Given the description of an element on the screen output the (x, y) to click on. 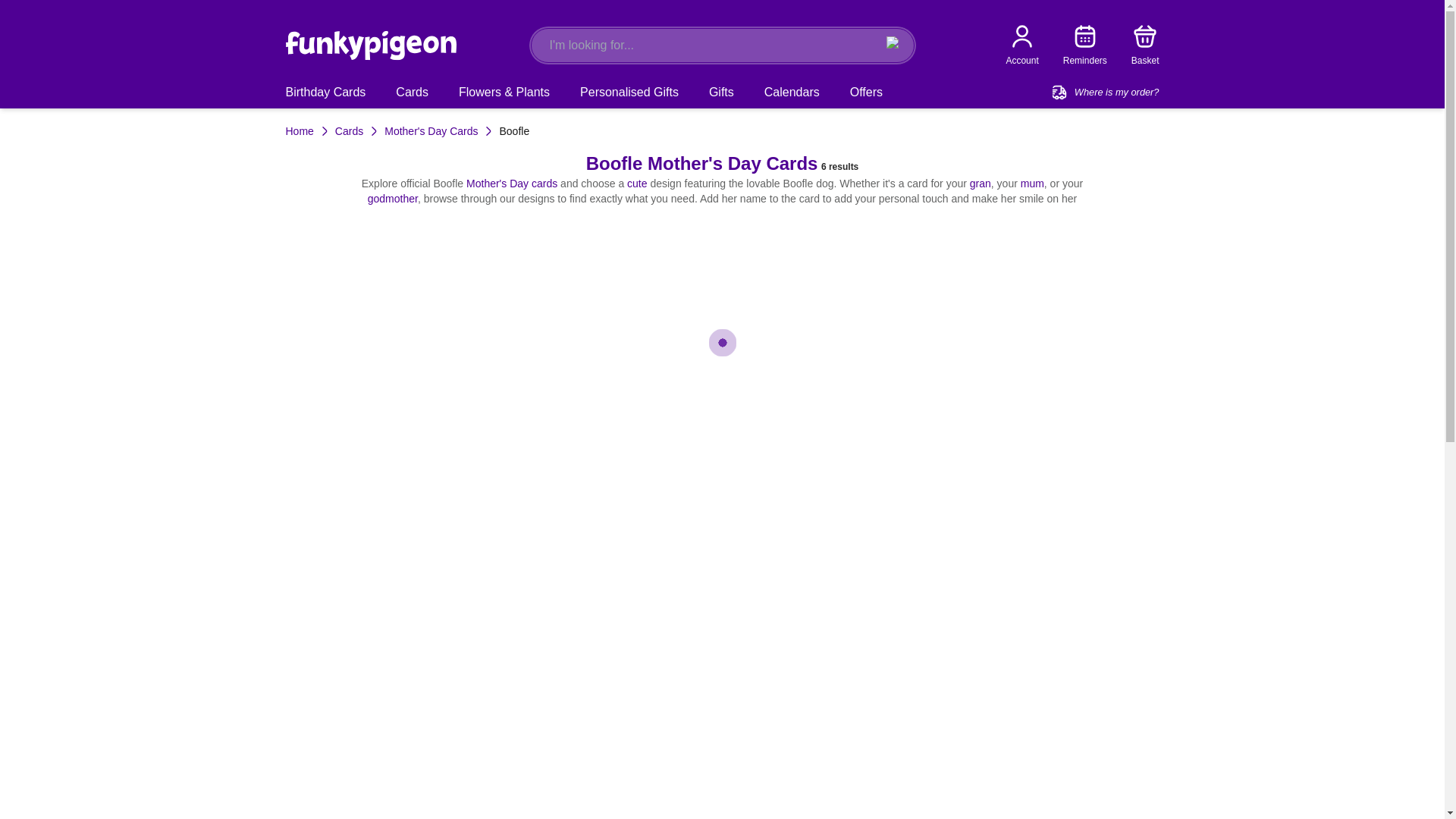
Birthday Cards (327, 93)
